Given the description of an element on the screen output the (x, y) to click on. 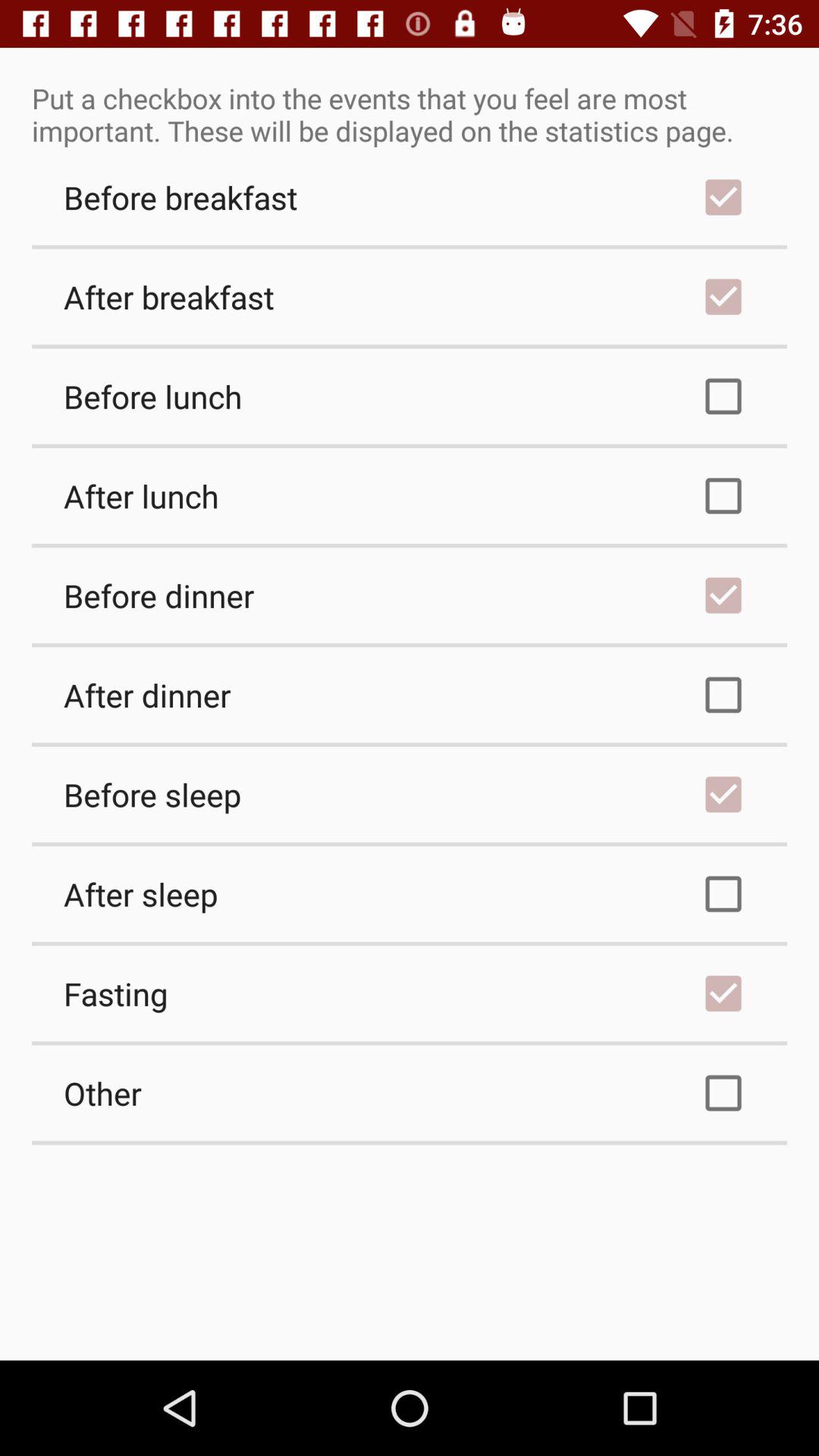
select before sleep item (409, 794)
